Given the description of an element on the screen output the (x, y) to click on. 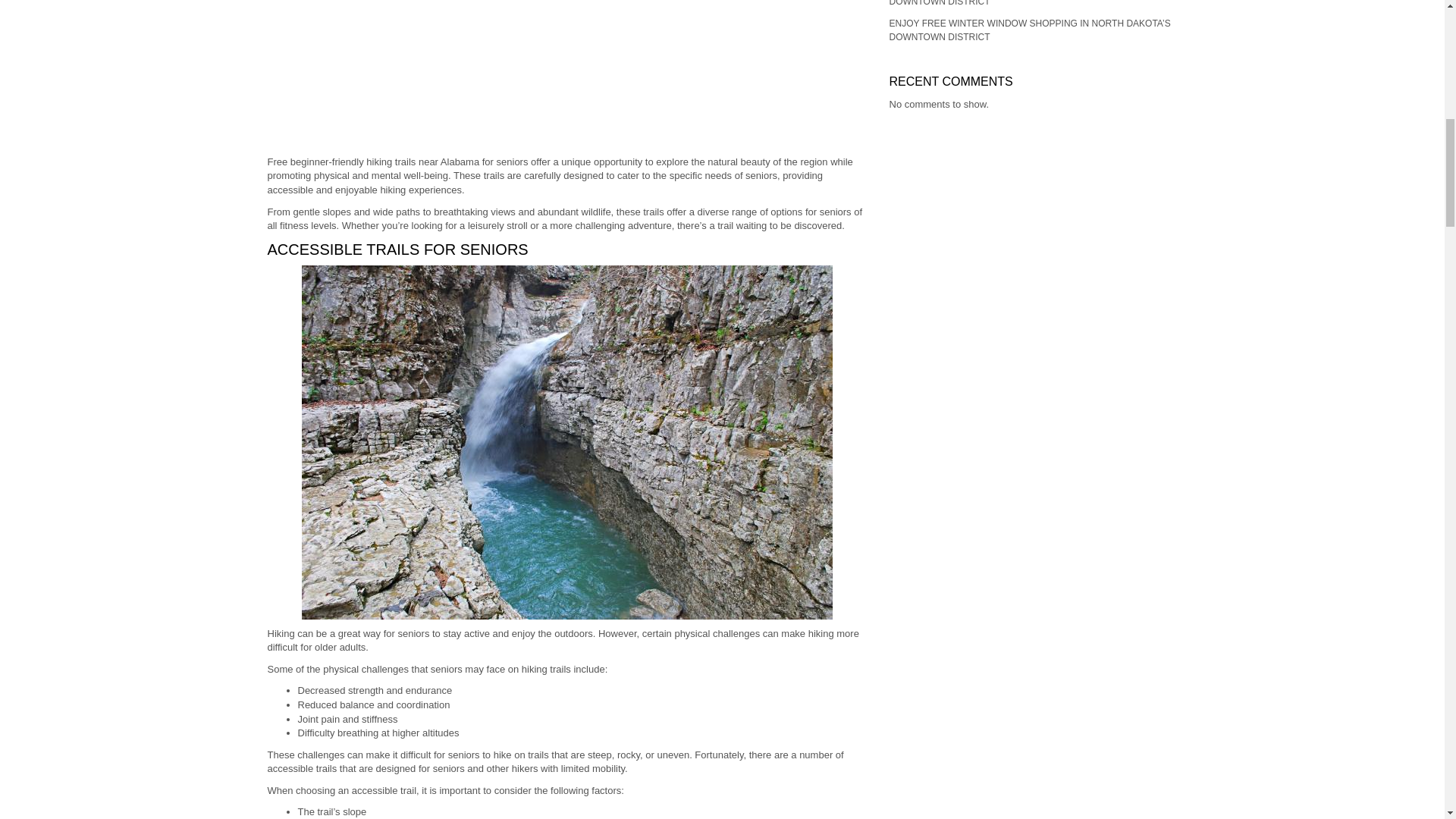
Advertisement (566, 74)
